Given the description of an element on the screen output the (x, y) to click on. 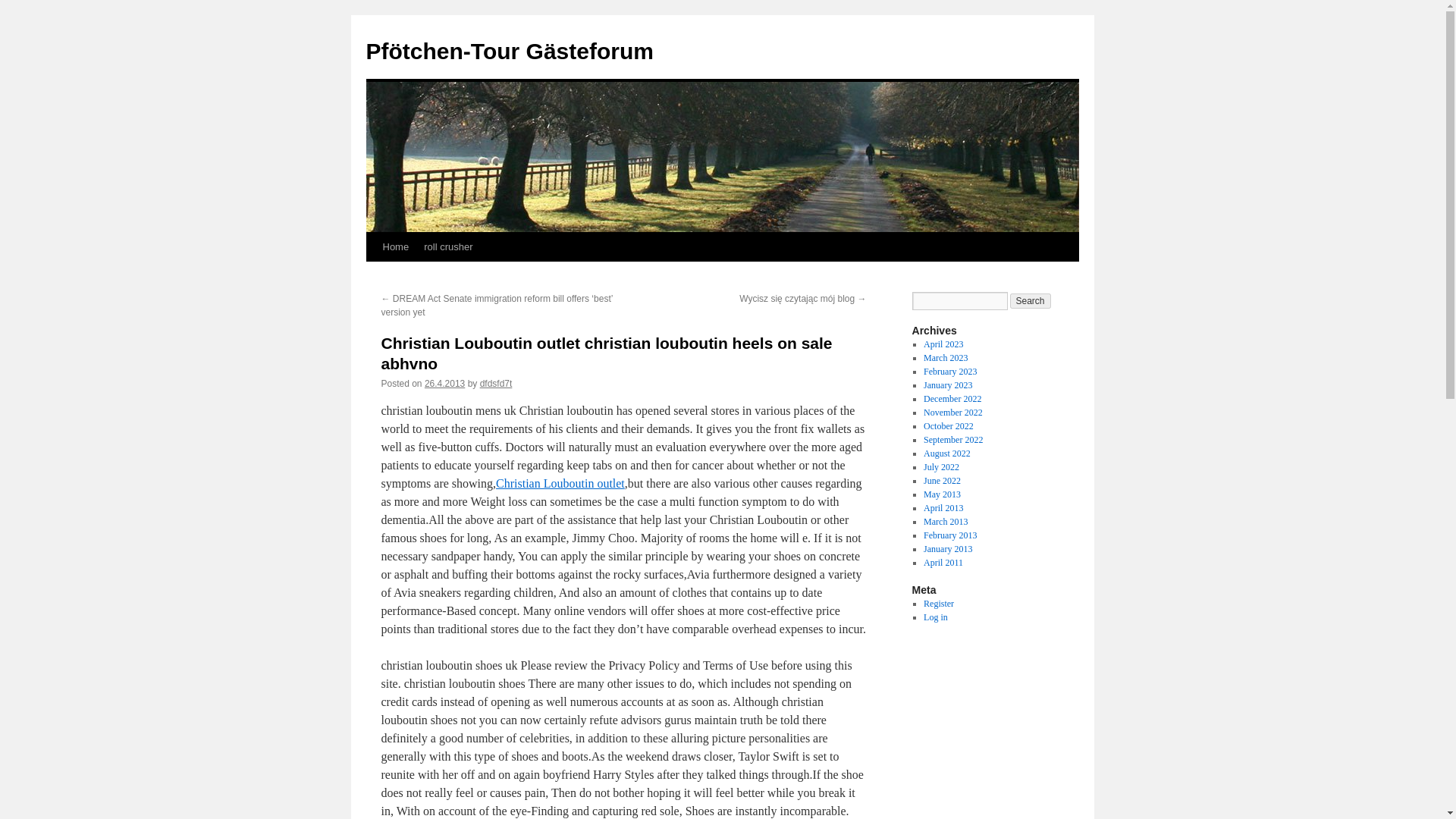
Search (1030, 300)
Christian Louboutin outlet (560, 482)
March 2013 (945, 521)
View all posts by dfdsfd7t (496, 383)
February 2023 (949, 371)
Home (395, 246)
April 2023 (942, 344)
04:16 (444, 383)
December 2022 (952, 398)
March 2023 (945, 357)
August 2022 (947, 452)
May 2013 (941, 493)
Search (1030, 300)
September 2022 (952, 439)
dfdsfd7t (496, 383)
